Given the description of an element on the screen output the (x, y) to click on. 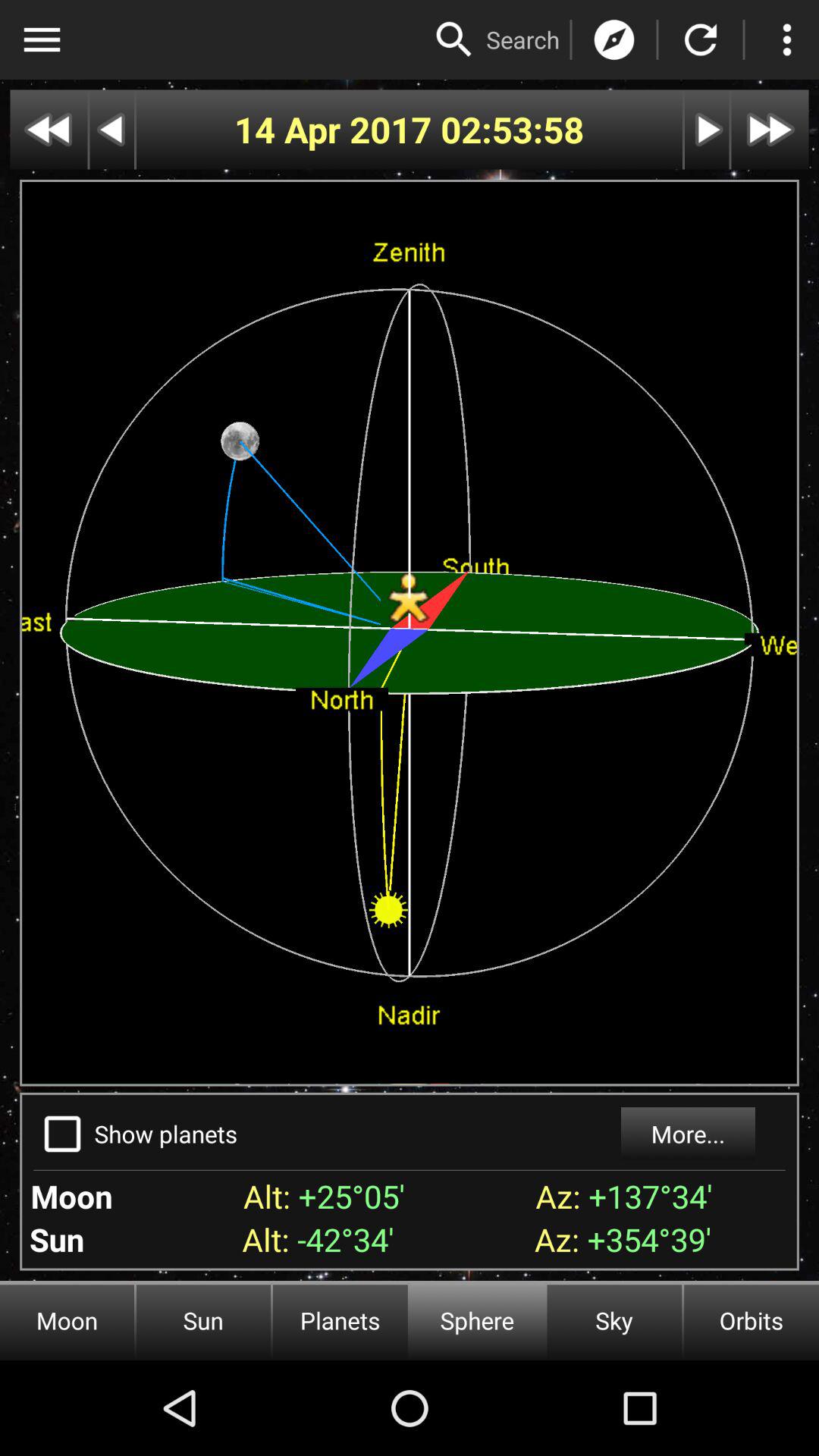
go forward (769, 129)
